Given the description of an element on the screen output the (x, y) to click on. 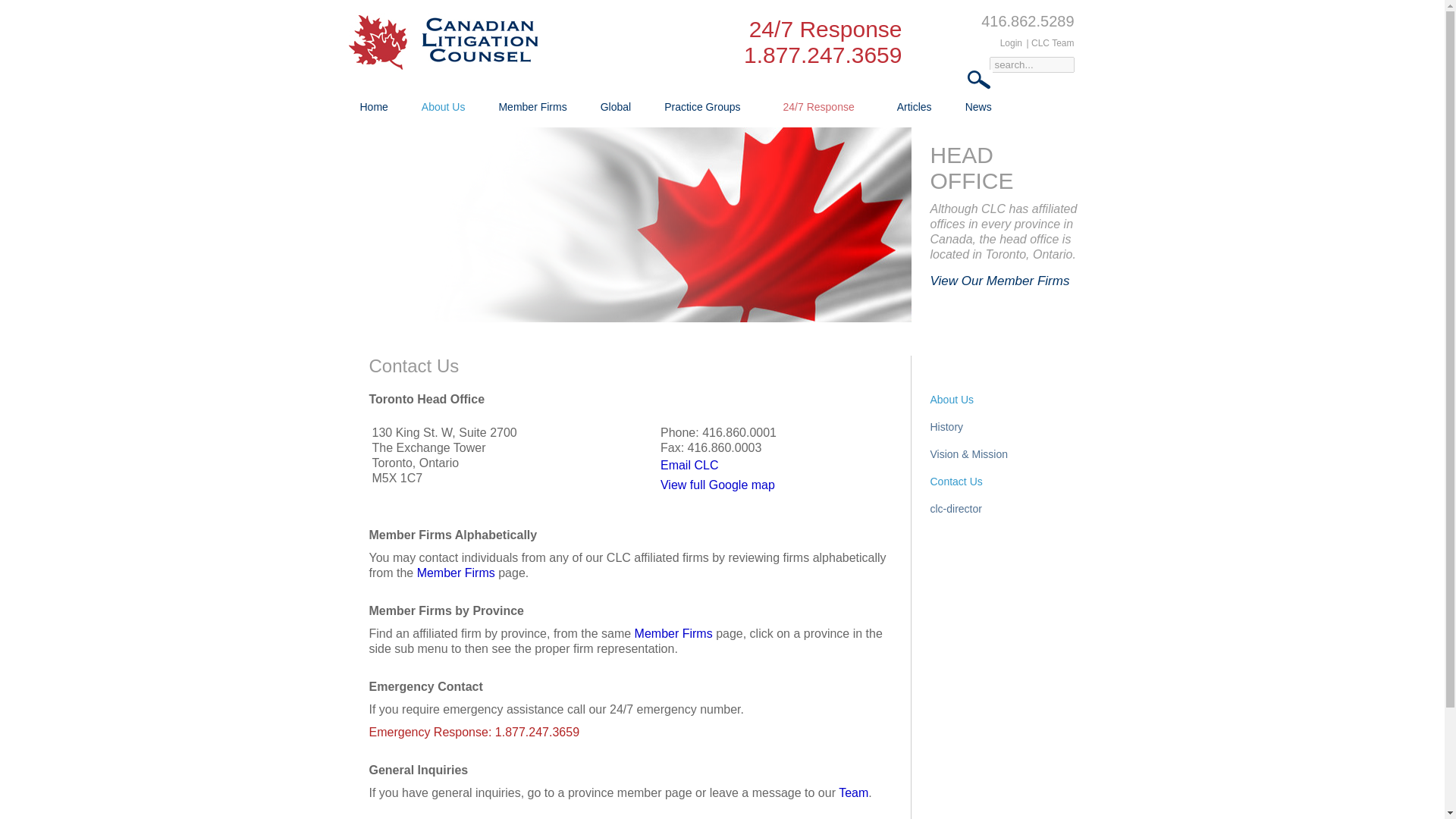
View full Google map (717, 484)
Email CLC (689, 464)
search... (1031, 64)
View Our Member Firms (999, 280)
Home (373, 107)
Login (1011, 42)
Practice Groups (702, 107)
News (978, 107)
About Us (443, 107)
Member Firms (531, 107)
